Given the description of an element on the screen output the (x, y) to click on. 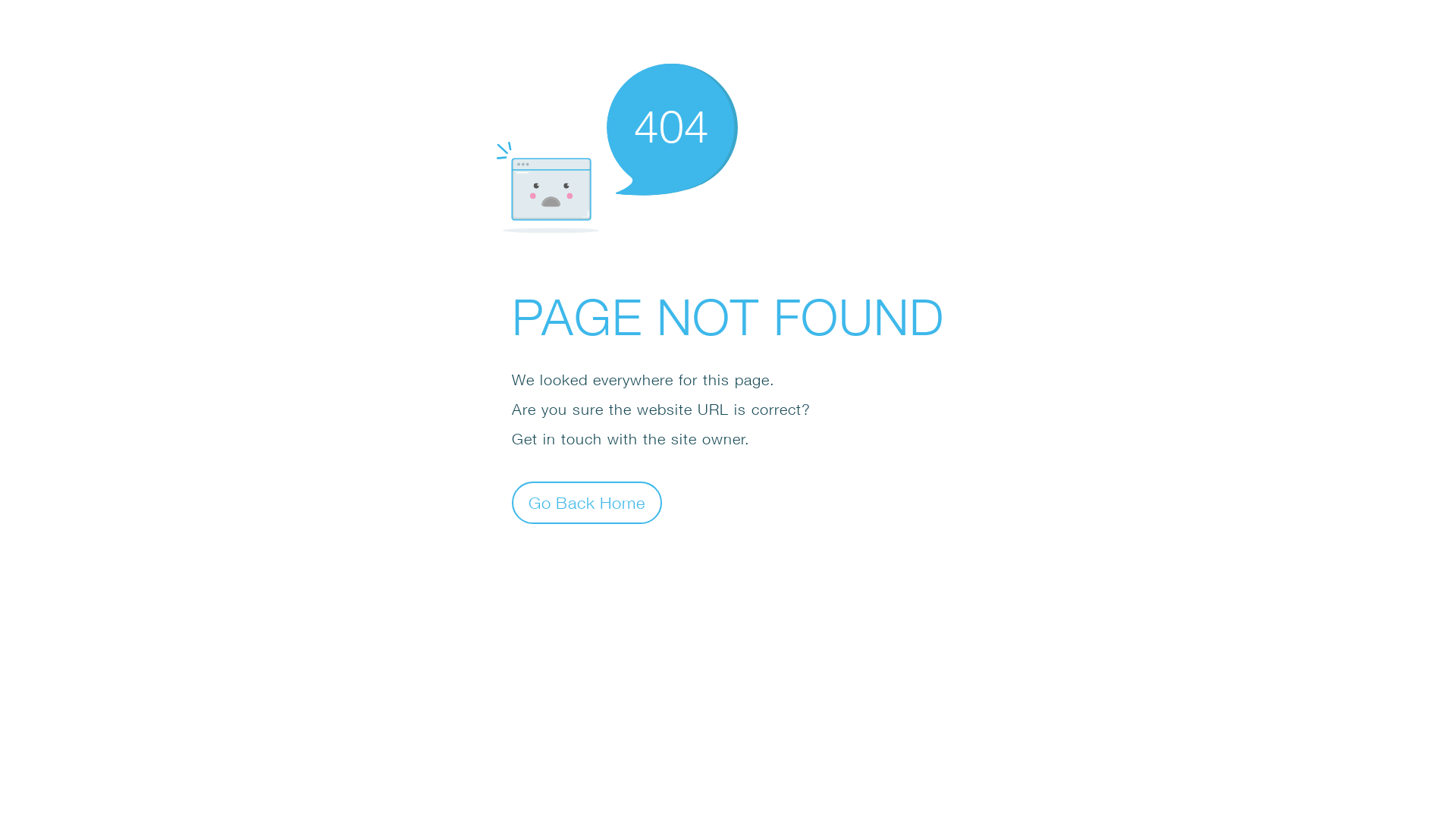
Go Back Home Element type: text (586, 502)
